Given the description of an element on the screen output the (x, y) to click on. 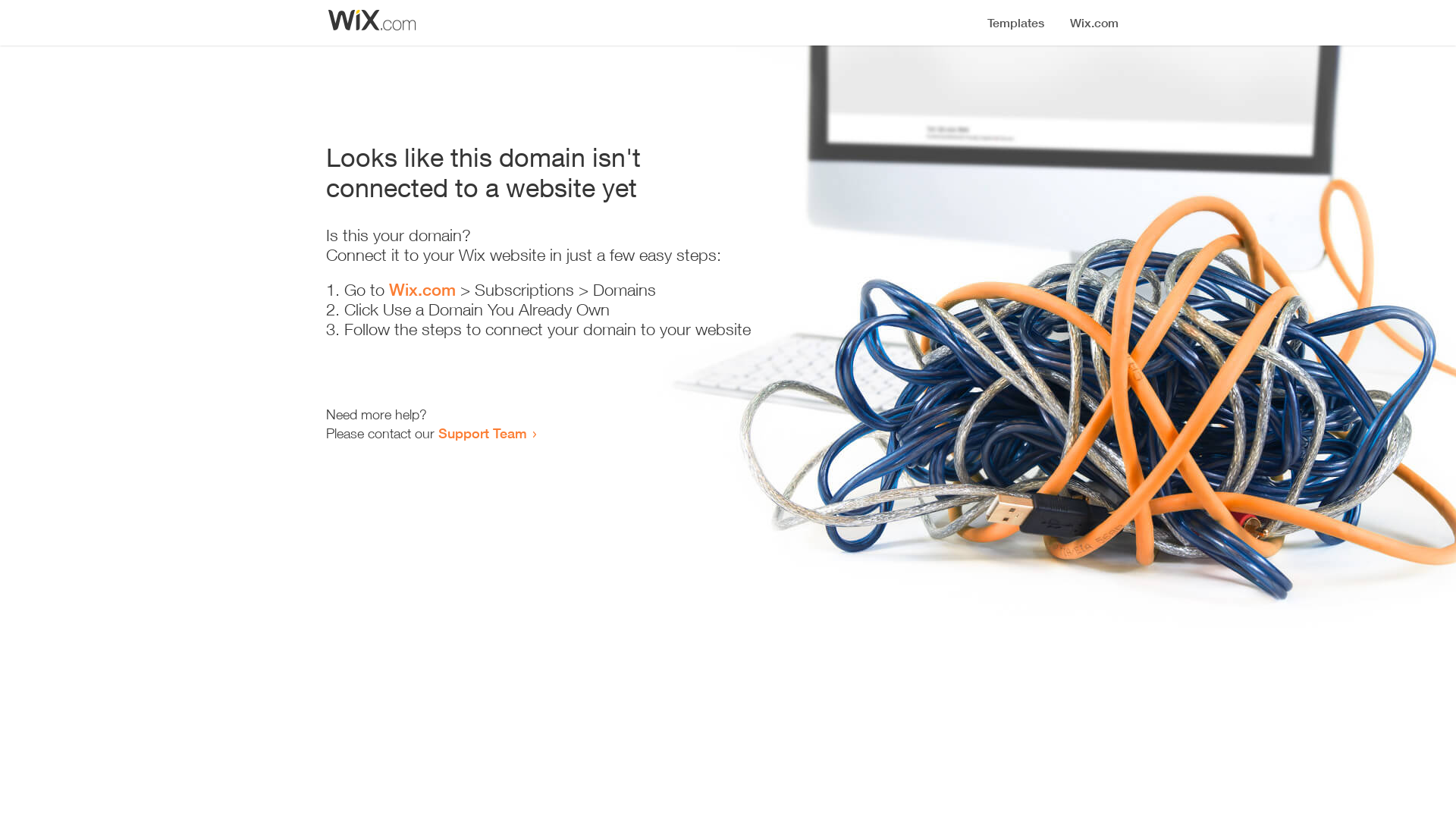
Wix.com Element type: text (422, 289)
Support Team Element type: text (482, 432)
